Given the description of an element on the screen output the (x, y) to click on. 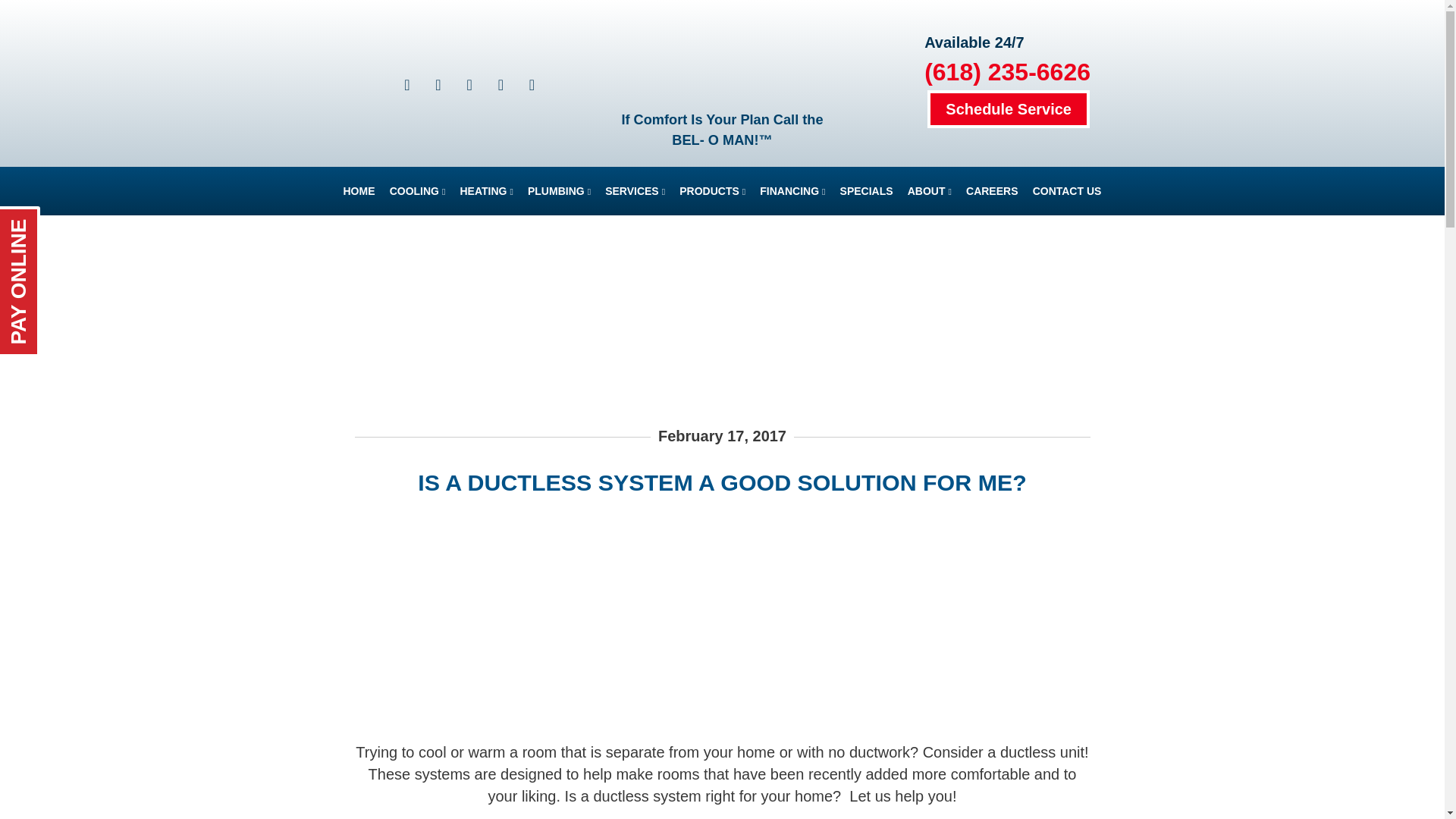
Schedule Service (1009, 108)
COOLING (417, 191)
HEATING (486, 191)
BELOMAN (722, 57)
SERVICES (635, 191)
PLUMBING (559, 191)
